Given the description of an element on the screen output the (x, y) to click on. 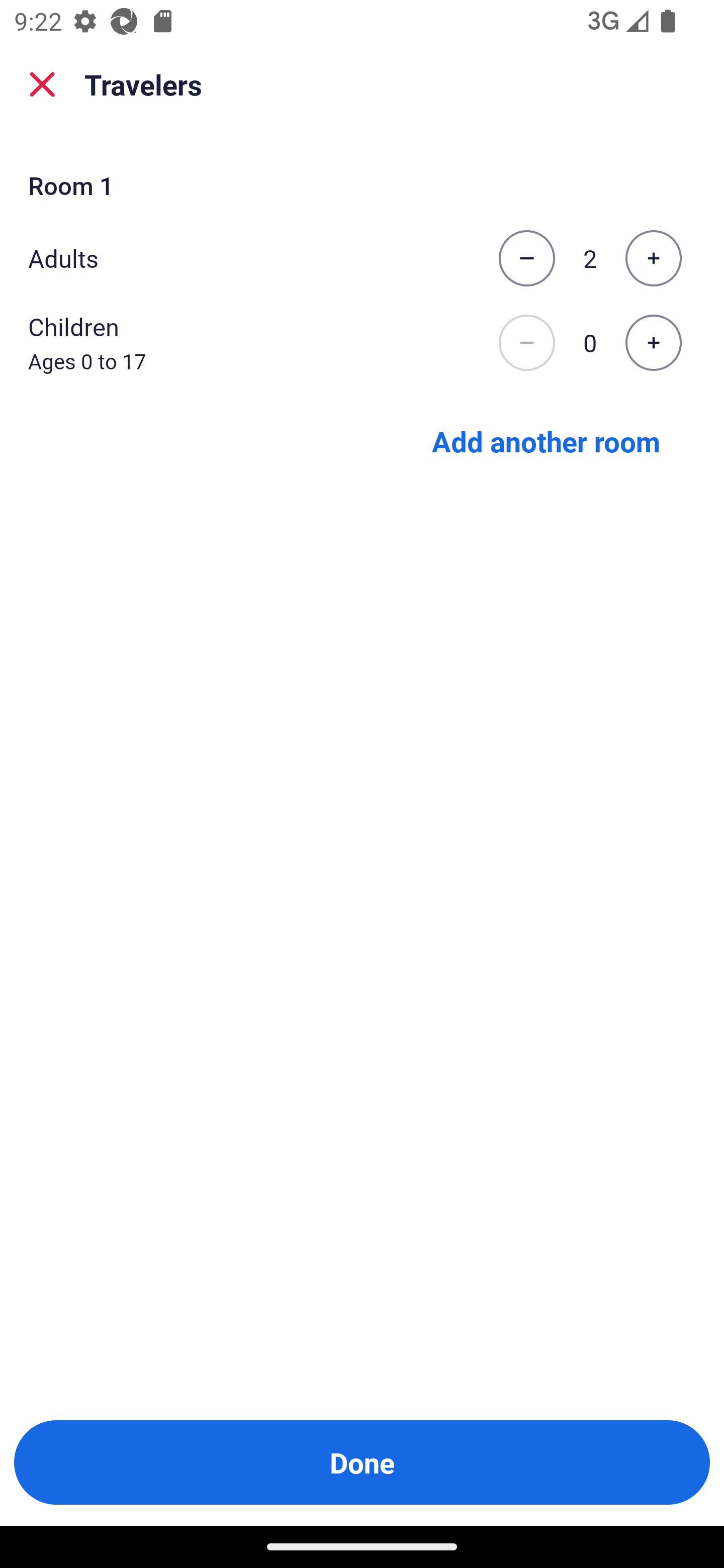
close (42, 84)
Decrease the number of adults (526, 258)
Increase the number of adults (653, 258)
Decrease the number of children (526, 343)
Increase the number of children (653, 343)
Add another room (545, 440)
Done (361, 1462)
